Given the description of an element on the screen output the (x, y) to click on. 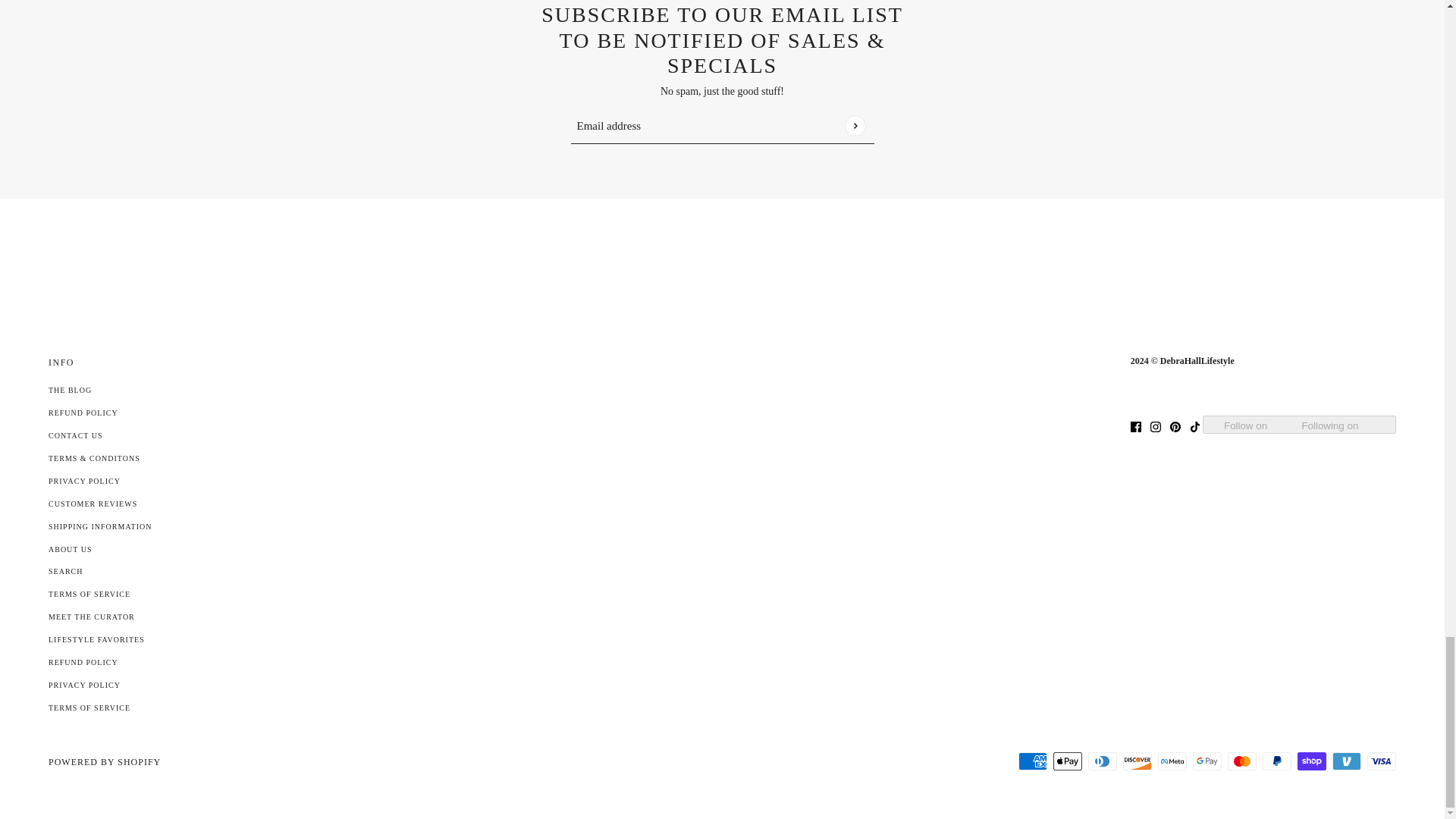
Terms of Service (89, 593)
Terms of service (89, 707)
Privacy policy (84, 684)
Meet The Curator (91, 616)
The Blog (69, 389)
Privacy Policy (84, 480)
Customer Reviews (92, 503)
About Us (70, 549)
Refund policy (82, 412)
Shipping Information (99, 526)
Contact Us (75, 435)
Refund policy (82, 662)
Lifestyle Favorites (96, 639)
